Given the description of an element on the screen output the (x, y) to click on. 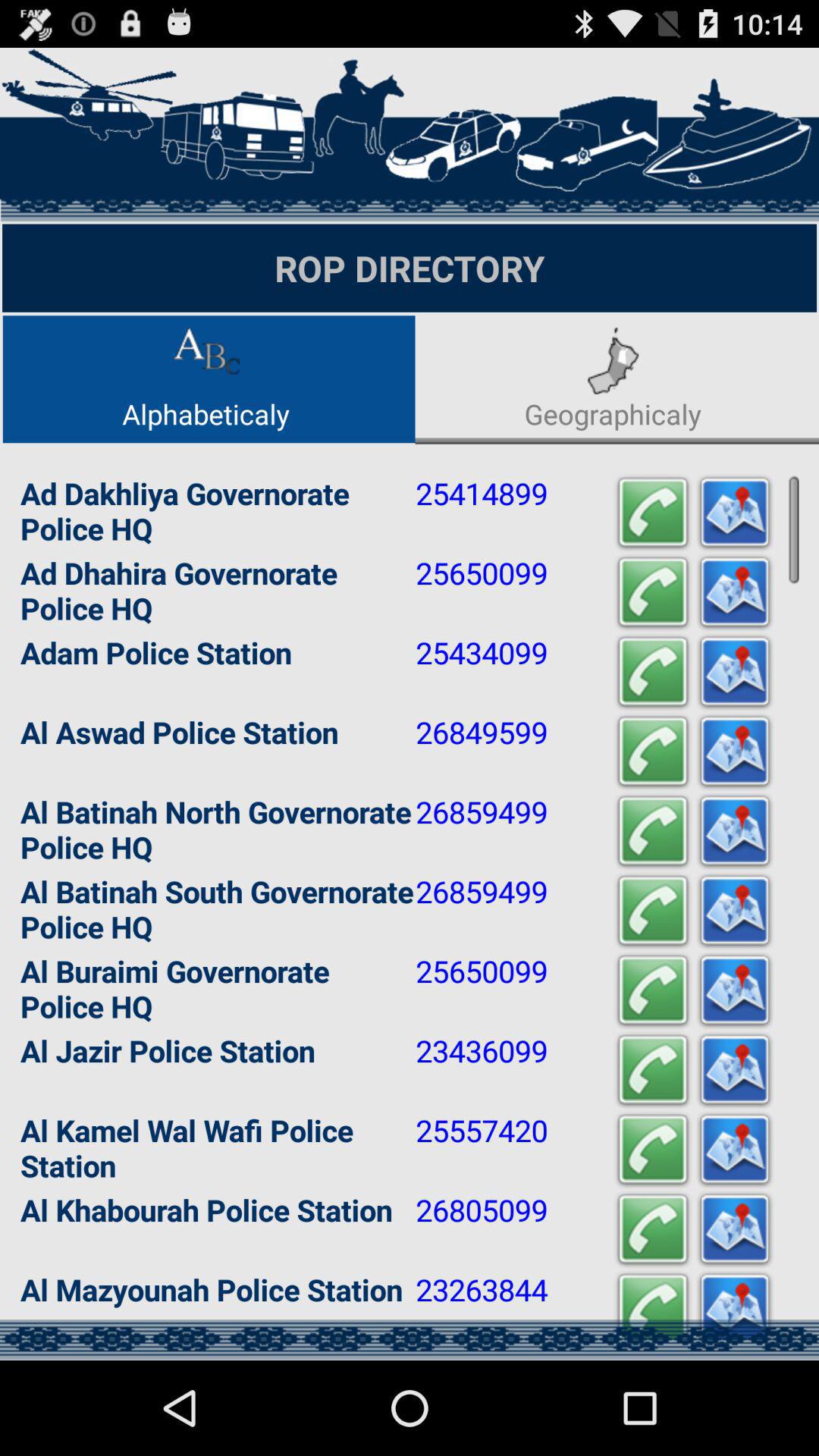
call (652, 1309)
